Given the description of an element on the screen output the (x, y) to click on. 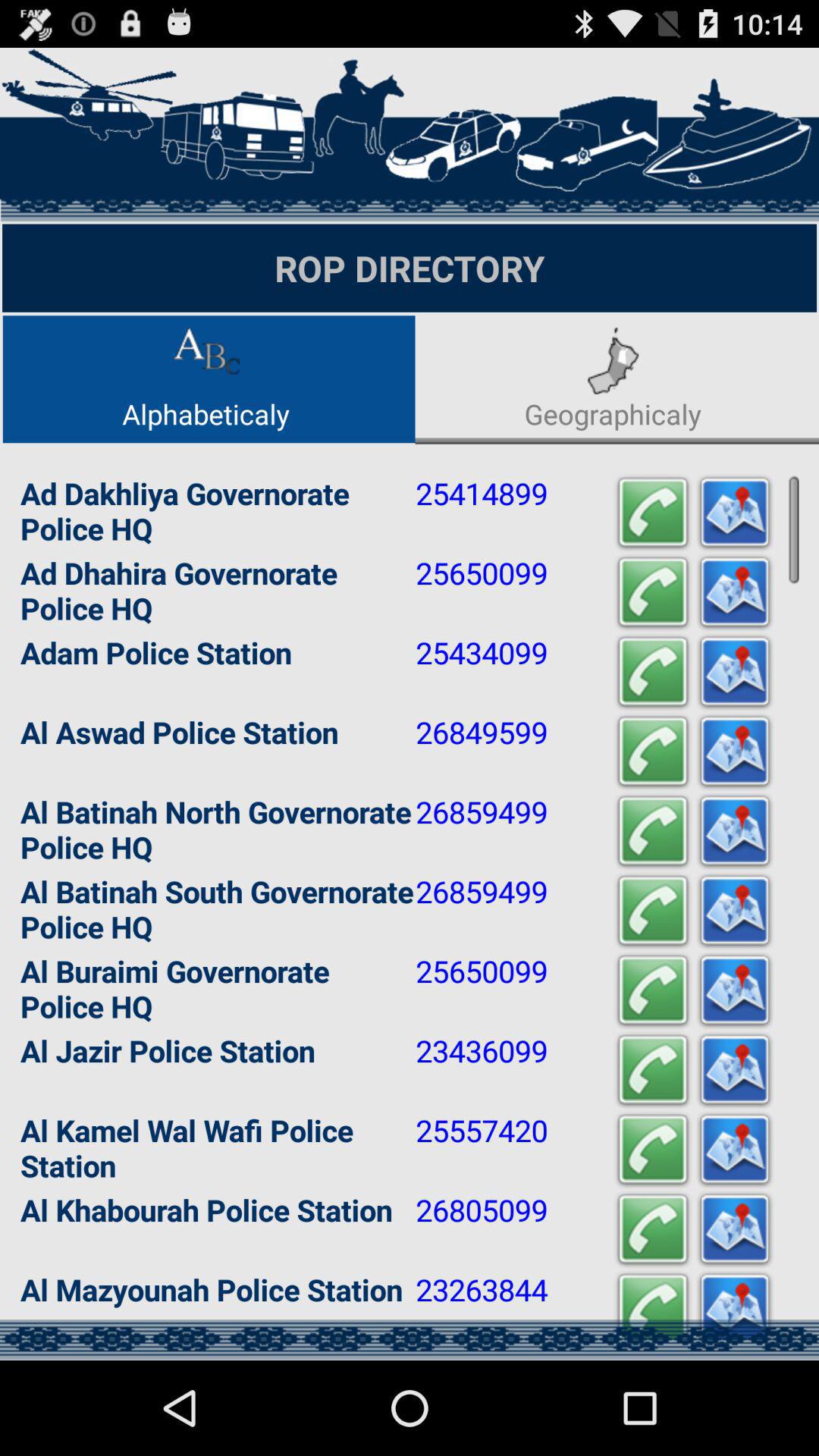
call (652, 1309)
